Given the description of an element on the screen output the (x, y) to click on. 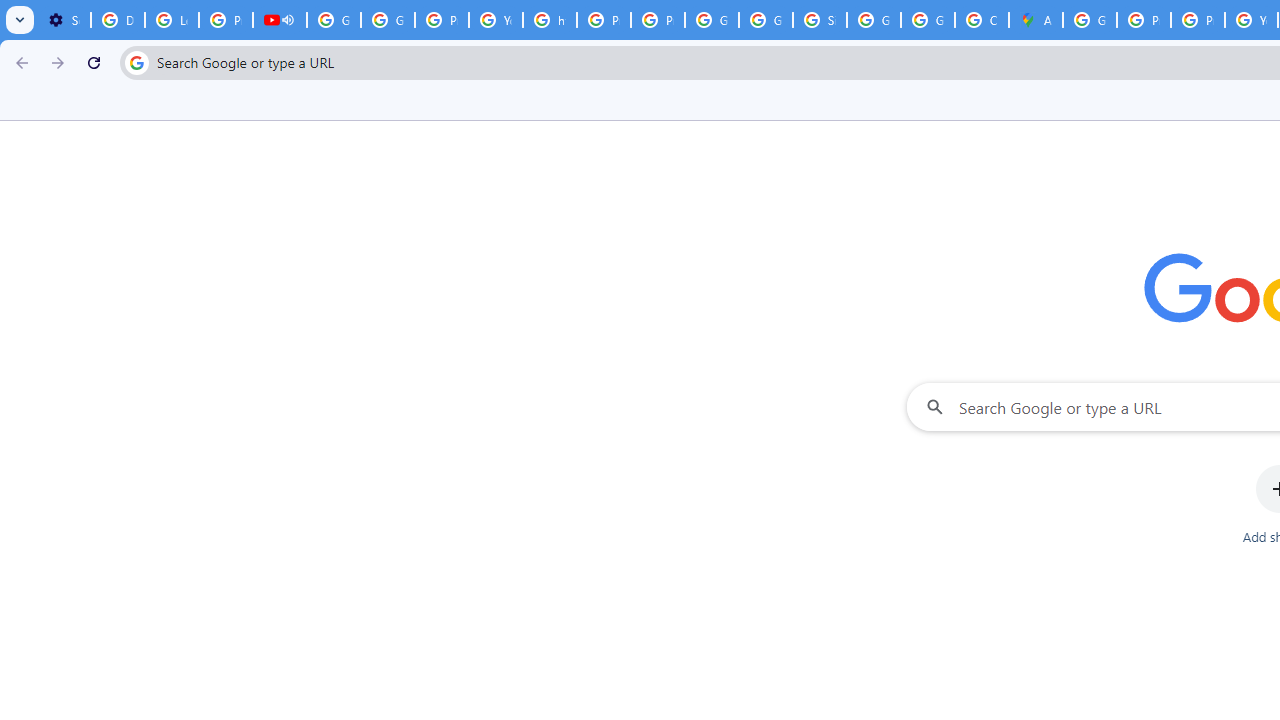
YouTube (495, 20)
Google Account Help (333, 20)
Privacy Help Center - Policies Help (1144, 20)
Privacy Help Center - Policies Help (604, 20)
